Given the description of an element on the screen output the (x, y) to click on. 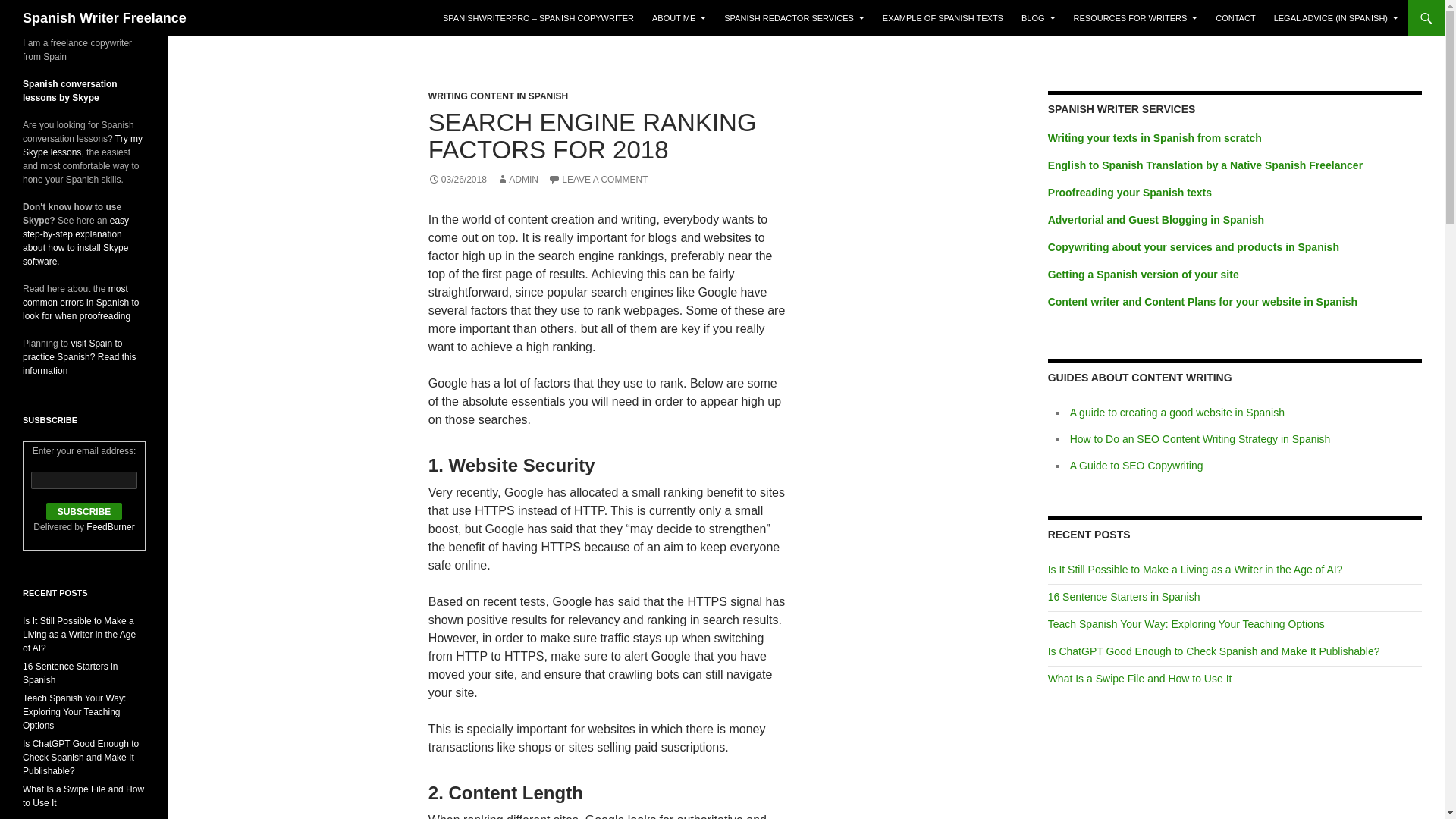
ADMIN (517, 179)
ABOUT ME (678, 18)
SPANISH REDACTOR SERVICES (793, 18)
Spanish Writer Freelance (104, 18)
EXAMPLE OF SPANISH TEXTS (942, 18)
WRITING CONTENT IN SPANISH (497, 95)
Subscribe (84, 511)
RESOURCES FOR WRITERS (1135, 18)
CONTACT (1235, 18)
LEAVE A COMMENT (597, 179)
